Given the description of an element on the screen output the (x, y) to click on. 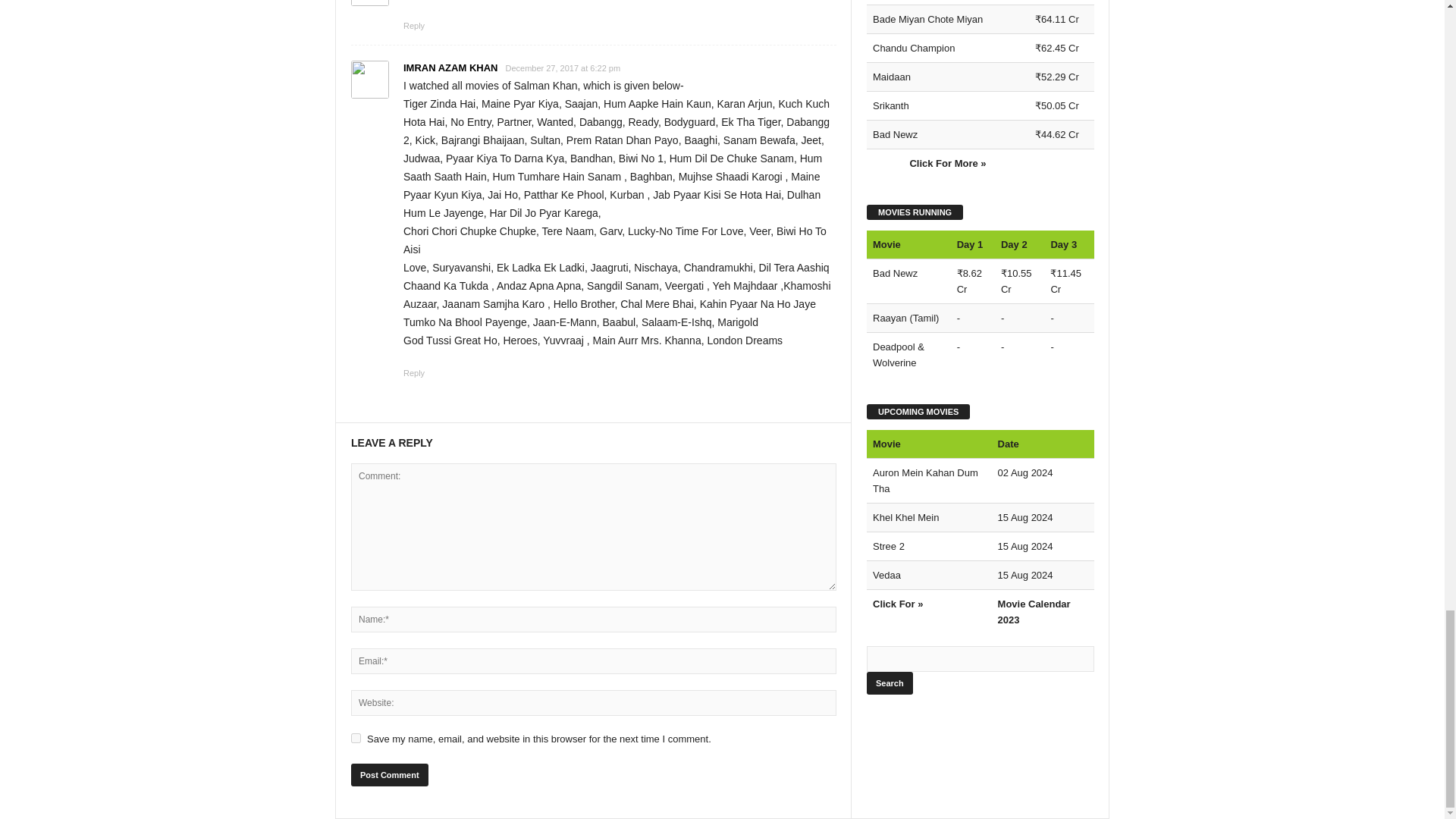
Search (889, 682)
yes (355, 737)
Post Comment (389, 774)
